Given the description of an element on the screen output the (x, y) to click on. 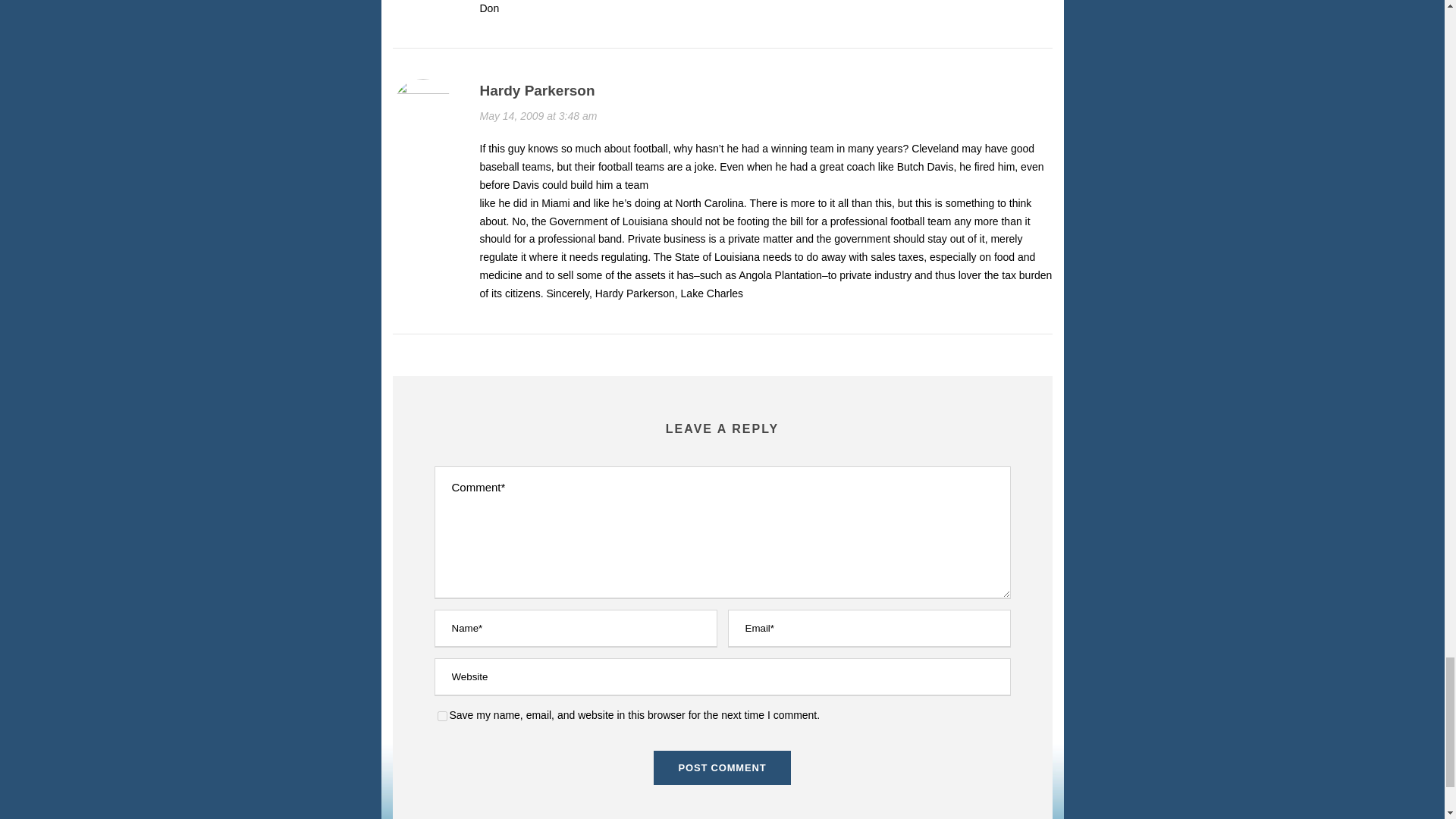
Post Comment (722, 767)
yes (441, 716)
May 14, 2009 at 3:48 am (537, 115)
Post Comment (722, 767)
